Given the description of an element on the screen output the (x, y) to click on. 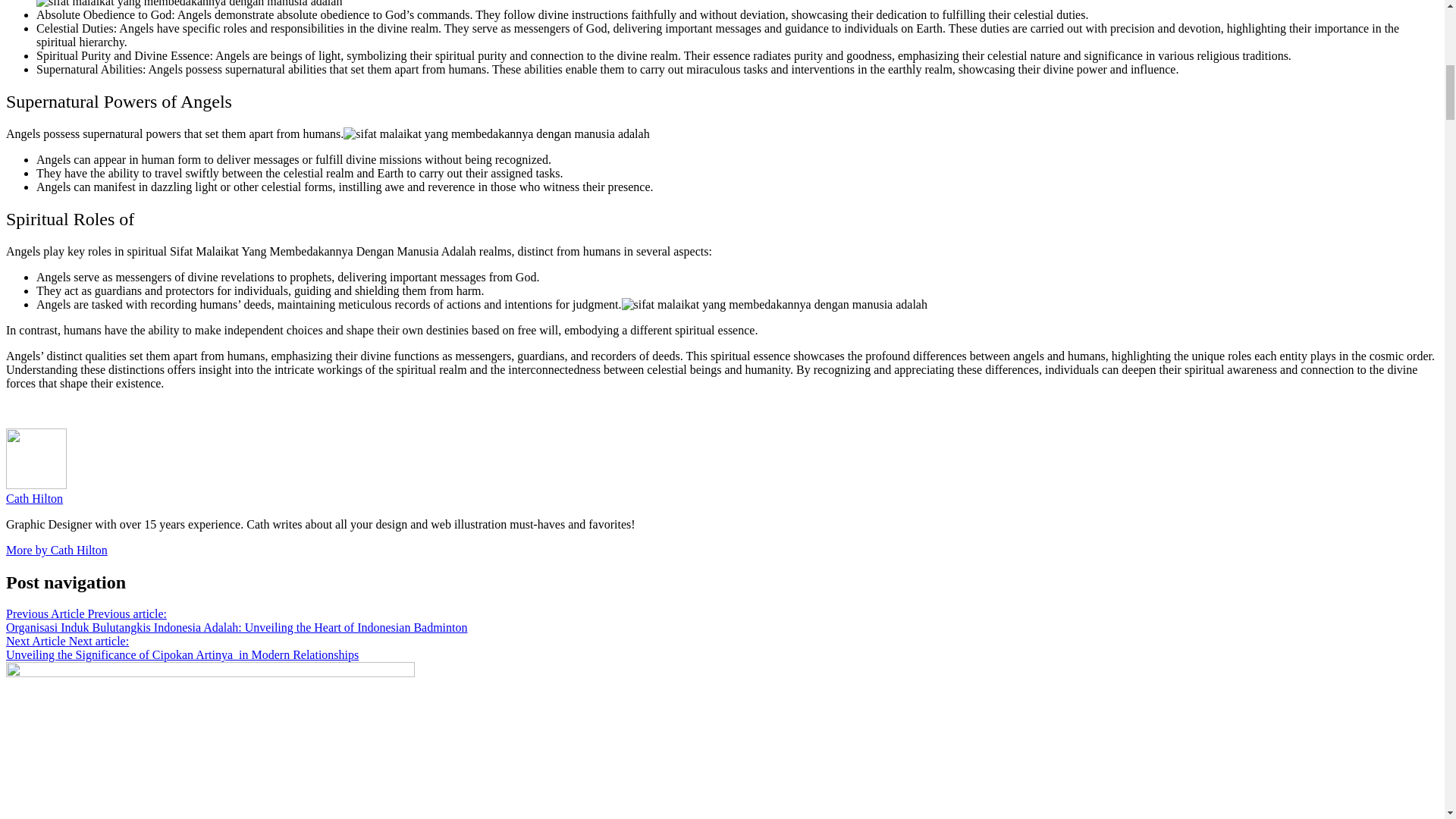
More by Cath Hilton (56, 549)
Cath Hilton (33, 498)
